Given the description of an element on the screen output the (x, y) to click on. 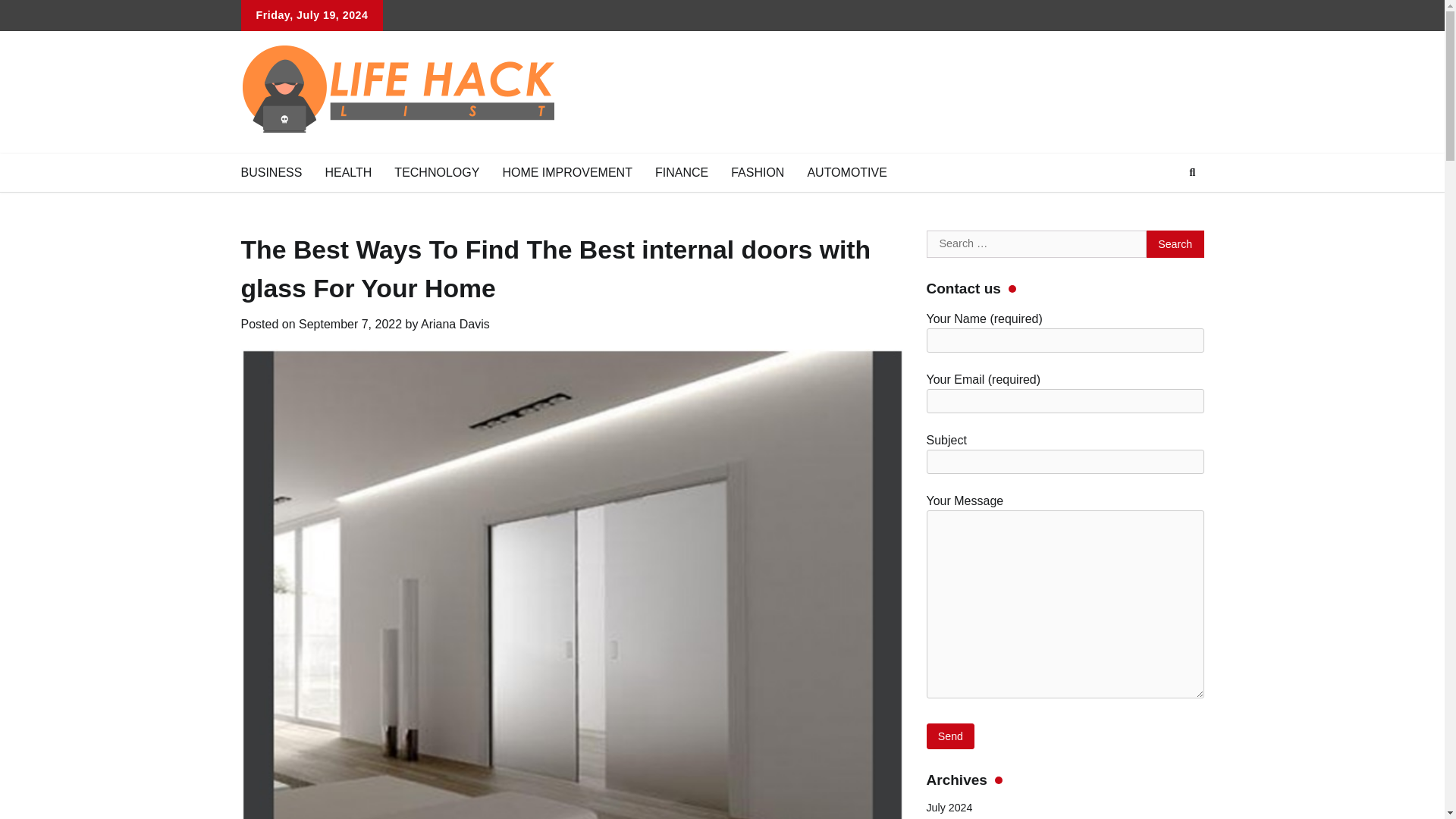
Search (1175, 243)
HOME IMPROVEMENT (566, 172)
Send (950, 735)
July 2024 (949, 807)
Search (1192, 172)
Send (950, 735)
FINANCE (681, 172)
HEALTH (347, 172)
Ariana Davis (454, 323)
BUSINESS (270, 172)
September 7, 2022 (349, 323)
Search (1175, 243)
AUTOMOTIVE (846, 172)
Search (1175, 243)
Search (1164, 207)
